Given the description of an element on the screen output the (x, y) to click on. 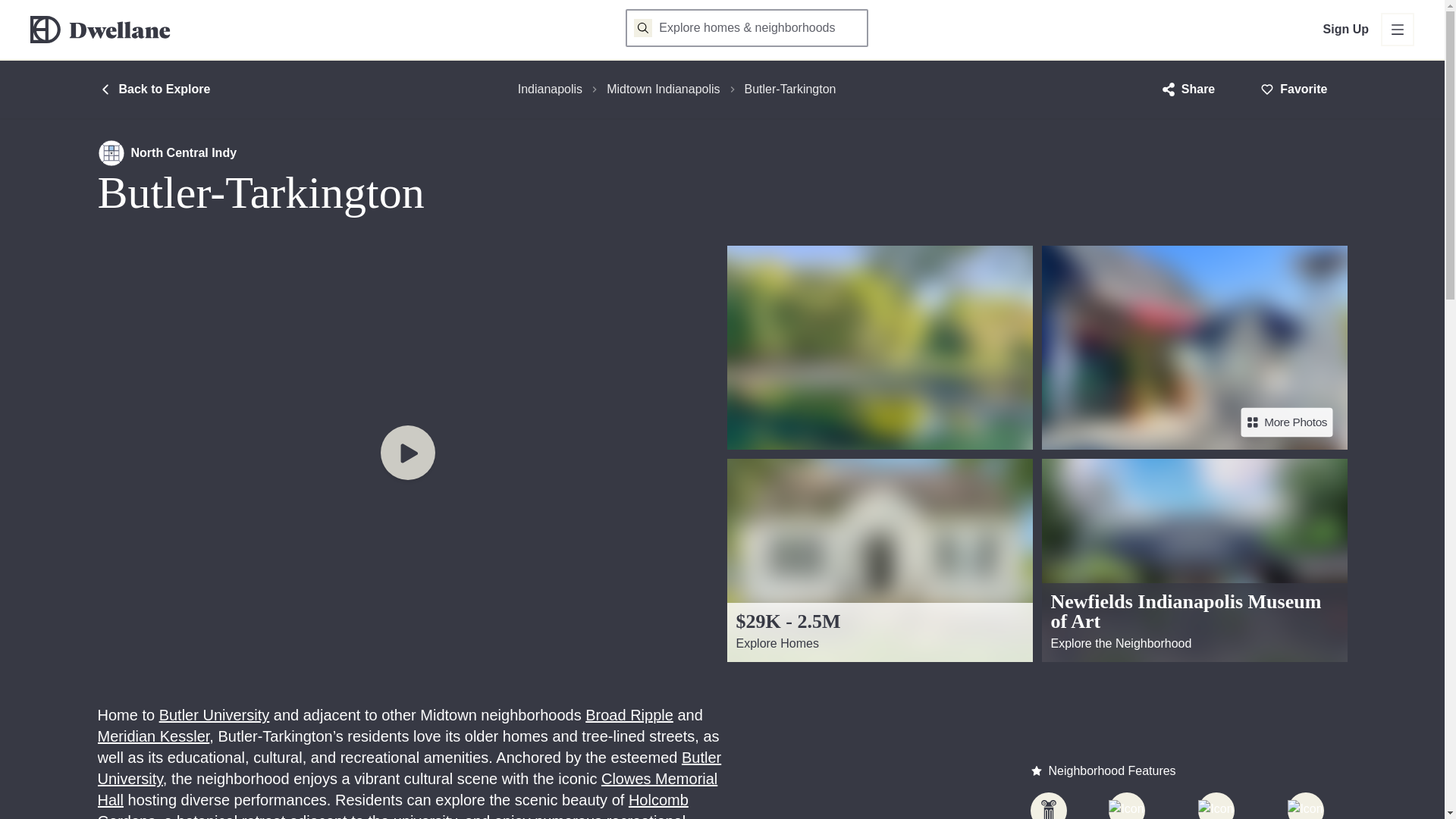
Butler University (408, 768)
Favorite (1293, 89)
Meridian Kessler (153, 736)
Back to Explore (153, 89)
Historic (1047, 805)
Clowes Memorial Hall (407, 789)
Sign Up (1345, 29)
Broad Ripple (628, 714)
Holcomb Gardens (392, 805)
Unique Architecture (1305, 805)
Midtown Indianapolis (663, 89)
Butler University (213, 714)
Share (1188, 89)
Indianapolis (550, 89)
